Given the description of an element on the screen output the (x, y) to click on. 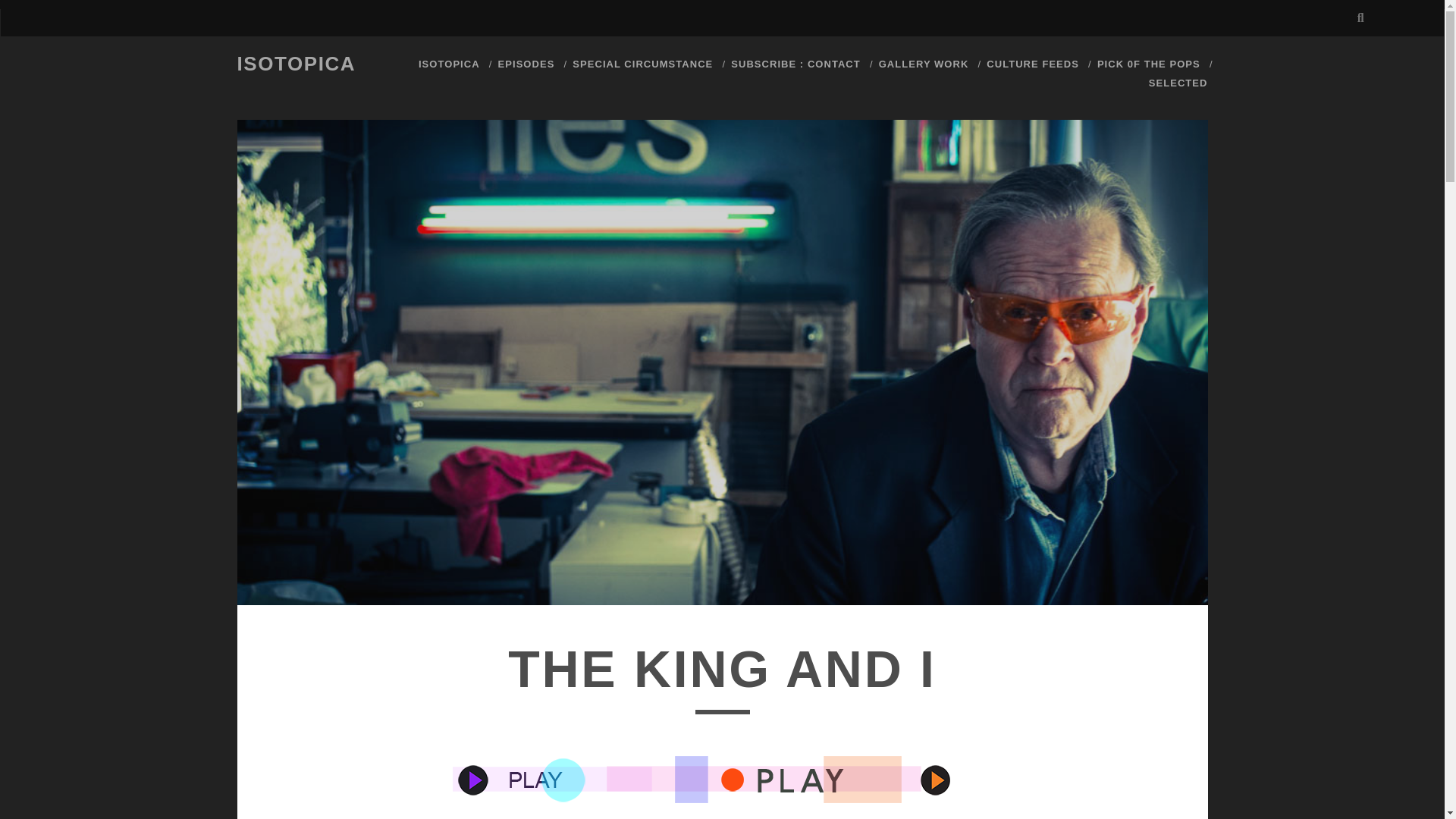
SUBSCRIBE : CONTACT (795, 64)
ISOTOPICA (449, 64)
Isotopica (795, 64)
SPECIAL CIRCUMSTANCE (642, 64)
Play (709, 780)
SELECTED (1178, 83)
EPISODES (525, 64)
many hours of sonic adventures (525, 64)
CULTURE FEEDS (1032, 64)
Play (709, 805)
Just what is Isotopica (449, 64)
some very fine art (924, 64)
ISOTOPICA (295, 63)
GALLERY WORK (924, 64)
PICK 0F THE POPS (1148, 64)
